Given the description of an element on the screen output the (x, y) to click on. 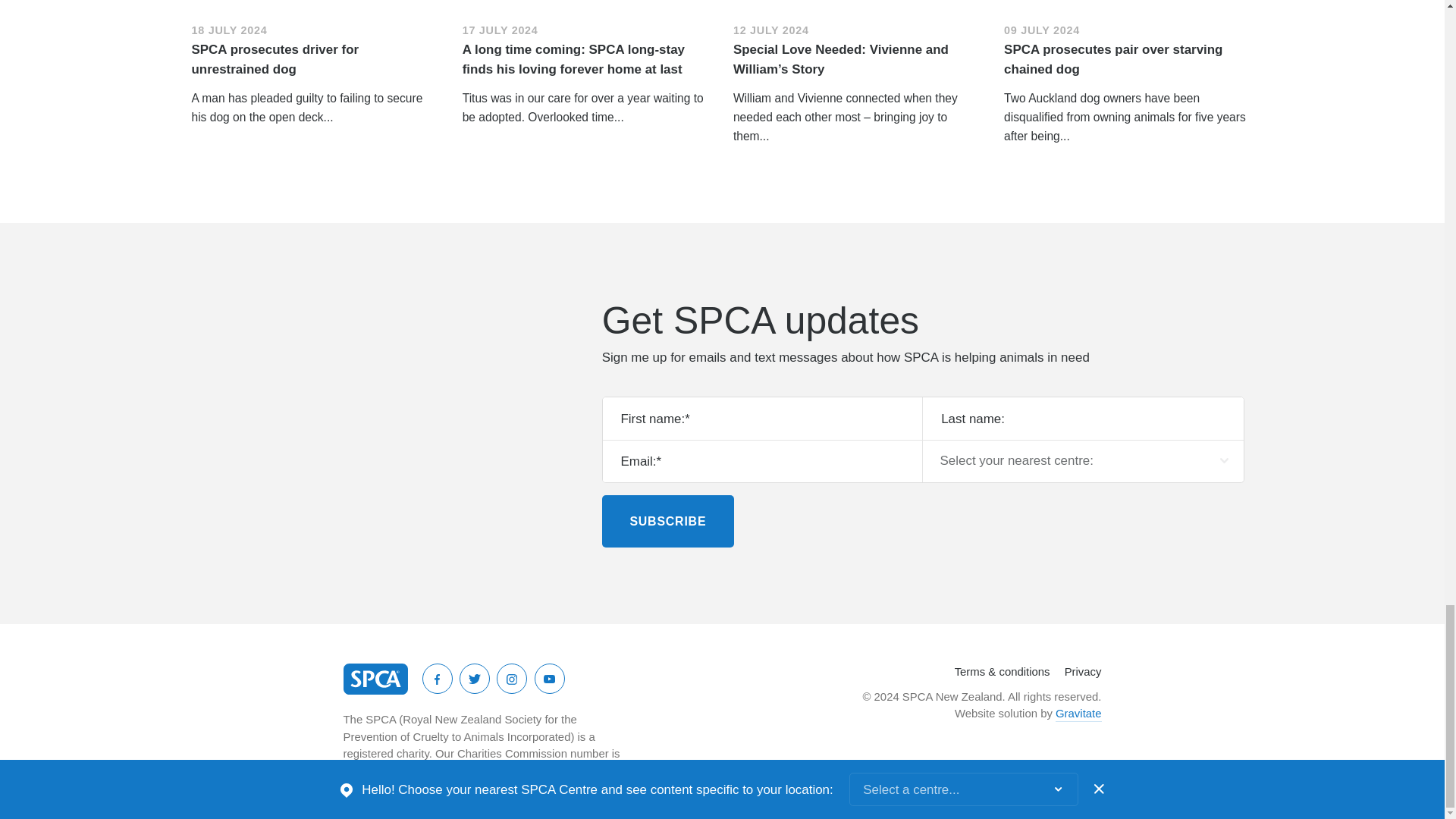
Subscribe (667, 521)
